Given the description of an element on the screen output the (x, y) to click on. 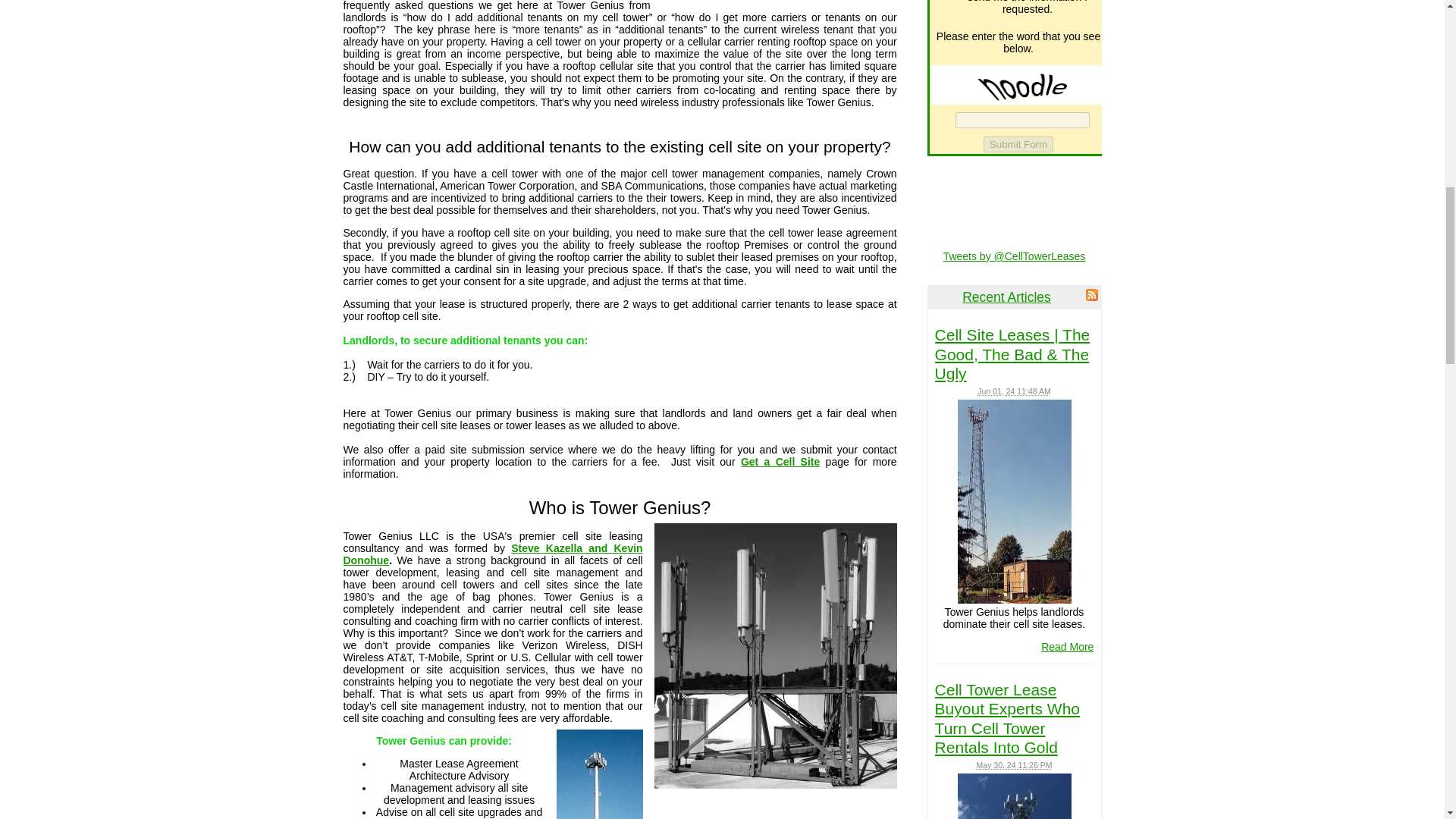
Submit Form (1018, 144)
2024-05-30T23:26:55-0400 (1014, 764)
2024-06-01T11:48:22-0400 (1012, 390)
